Given the description of an element on the screen output the (x, y) to click on. 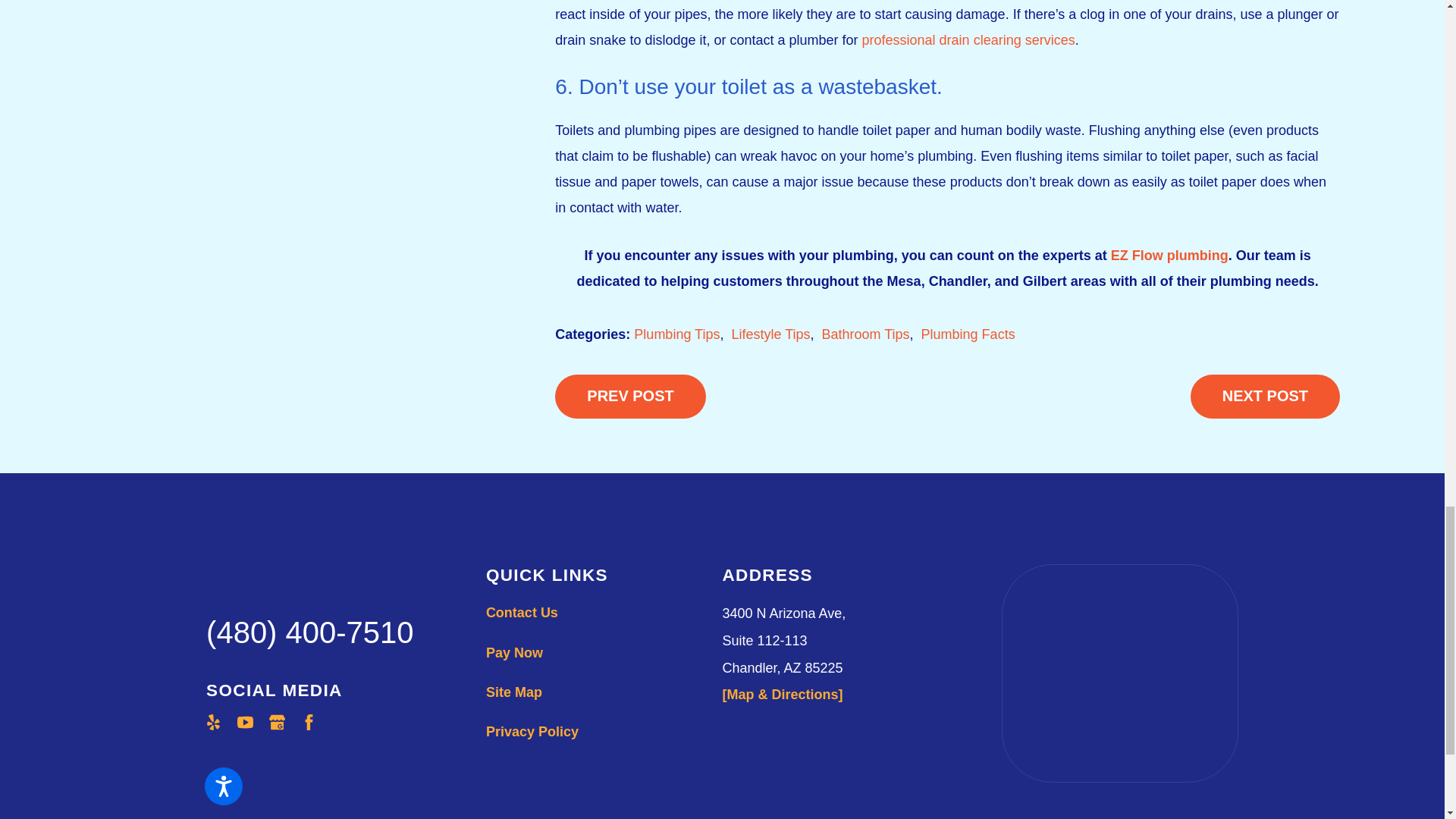
YouTube (245, 722)
Google Business Profile (277, 722)
Yelp (213, 722)
Facebook (309, 722)
